Given the description of an element on the screen output the (x, y) to click on. 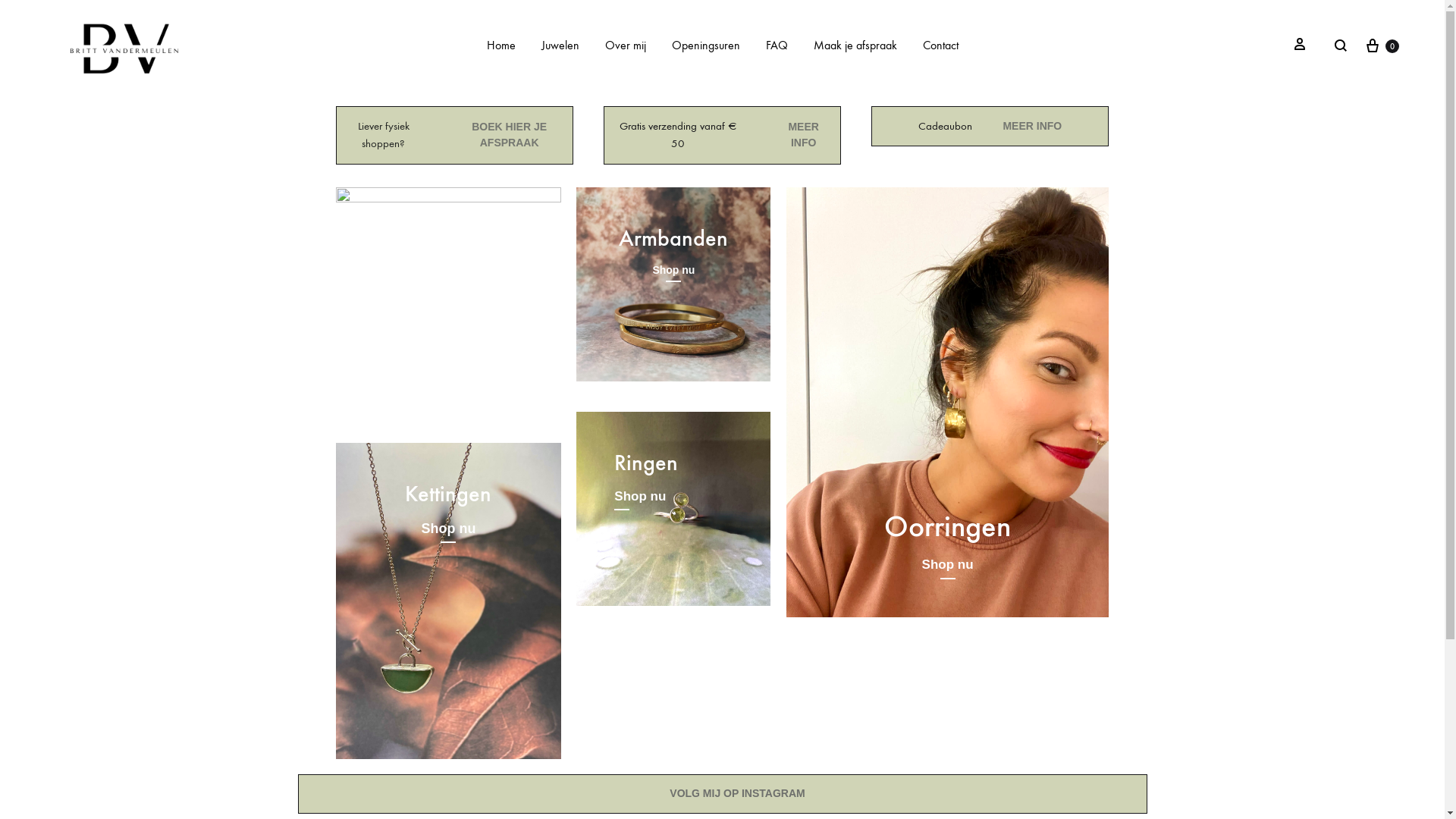
BOEK HIER JE AFSPRAAK Element type: text (508, 135)
Home Element type: text (500, 45)
Contact Element type: text (939, 45)
Oorringen
Shop nu Element type: text (947, 402)
Over mij Element type: text (625, 45)
MEER INFO Element type: text (1031, 126)
0 Element type: text (1381, 45)
Armbanden
Shop nu Element type: text (673, 284)
MEER INFO Element type: text (803, 135)
Maak je afspraak Element type: text (854, 45)
FAQ Element type: text (776, 45)
Ringen
Shop nu Element type: text (673, 508)
VOLG MIJ OP INSTAGRAM Element type: text (736, 793)
Kettingen
Shop nu Element type: text (448, 600)
Openingsuren Element type: text (705, 45)
Juwelen Element type: text (560, 45)
Edelstenen met betekenis
Shop nu Element type: text (448, 300)
